Given the description of an element on the screen output the (x, y) to click on. 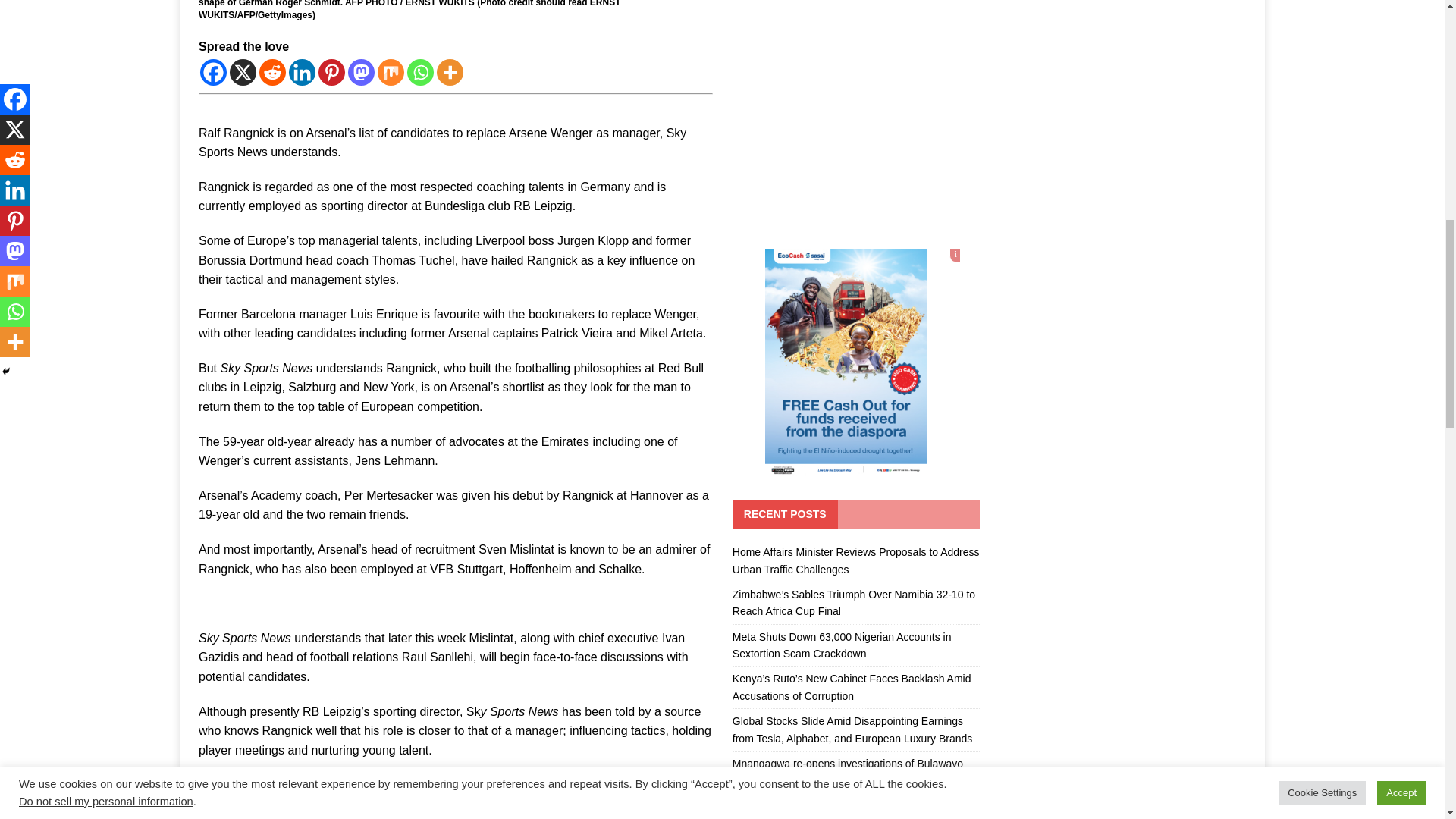
Whatsapp (420, 71)
Pinterest (331, 71)
Linkedin (301, 71)
Facebook (213, 71)
Mix (390, 71)
X (243, 71)
Reddit (272, 71)
Mastodon (360, 71)
